Given the description of an element on the screen output the (x, y) to click on. 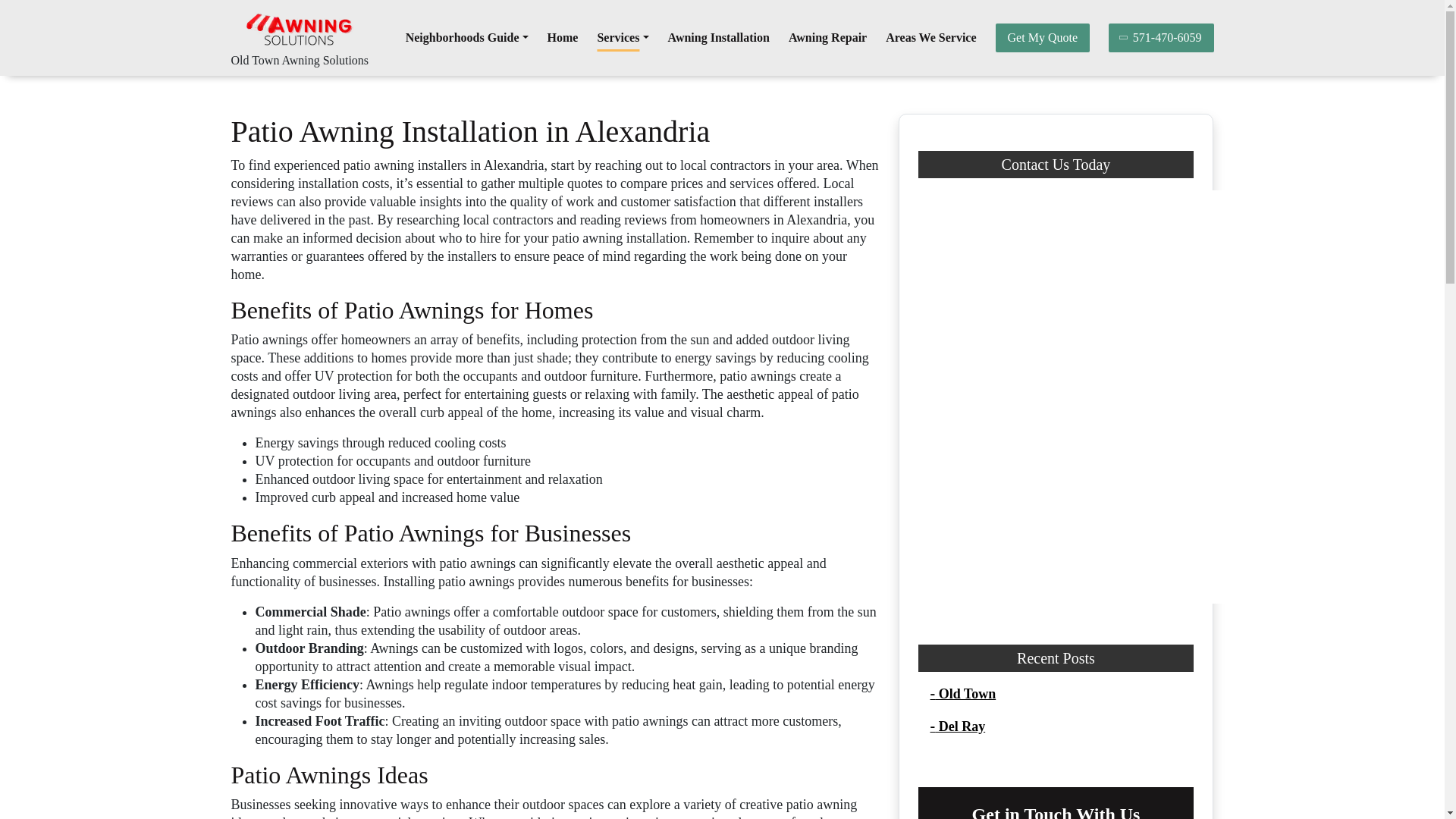
Awning Installation (719, 37)
Services (621, 37)
Get My Quote (1042, 37)
Services (621, 37)
571-470-6059 (1161, 37)
- Old Town (962, 693)
- Del Ray (957, 726)
Areas We Service (930, 37)
Neighborhoods Guide (467, 37)
Awning Repair (827, 37)
